Given the description of an element on the screen output the (x, y) to click on. 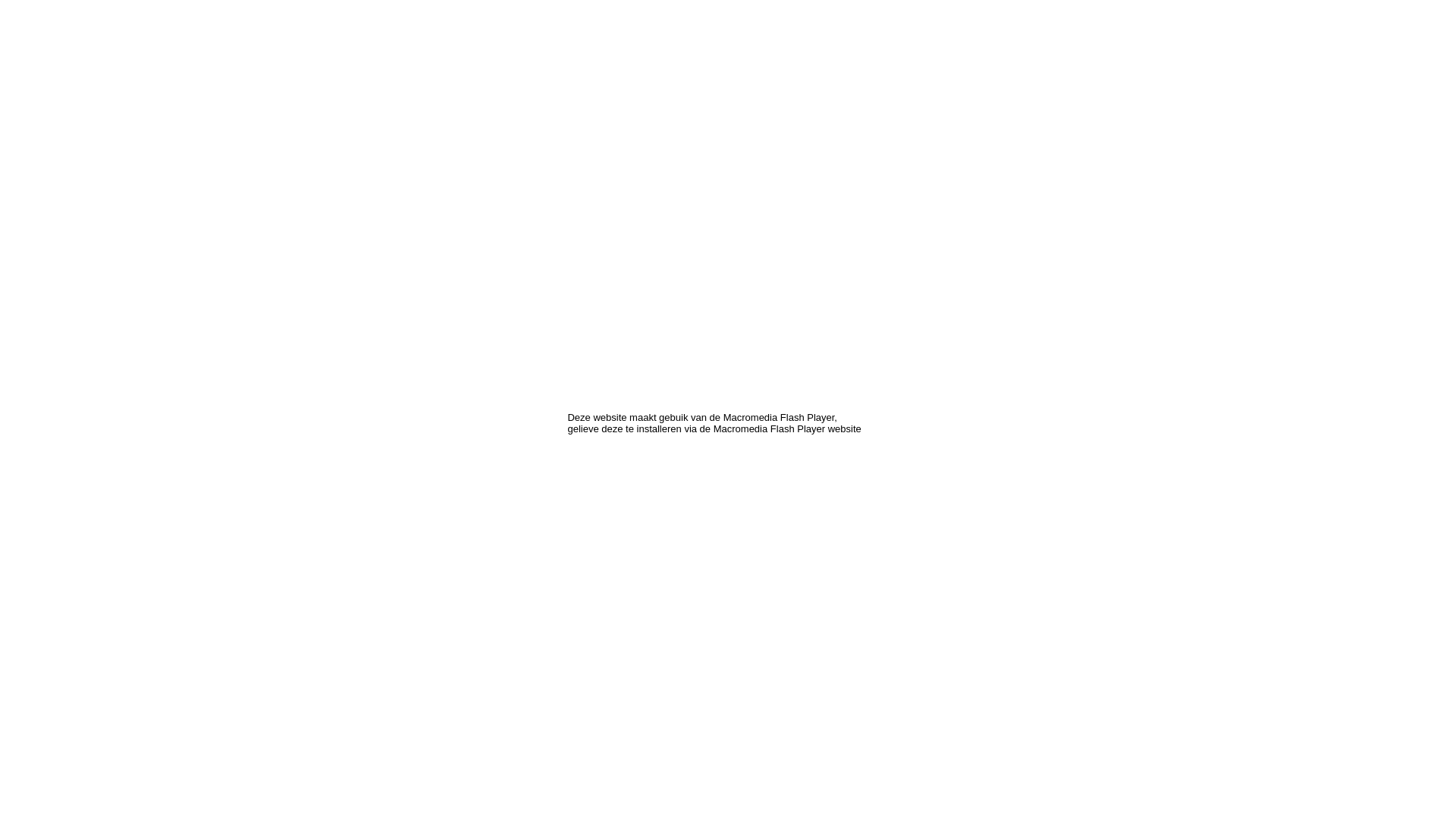
Macromedia Flash Player website Element type: text (787, 428)
